Given the description of an element on the screen output the (x, y) to click on. 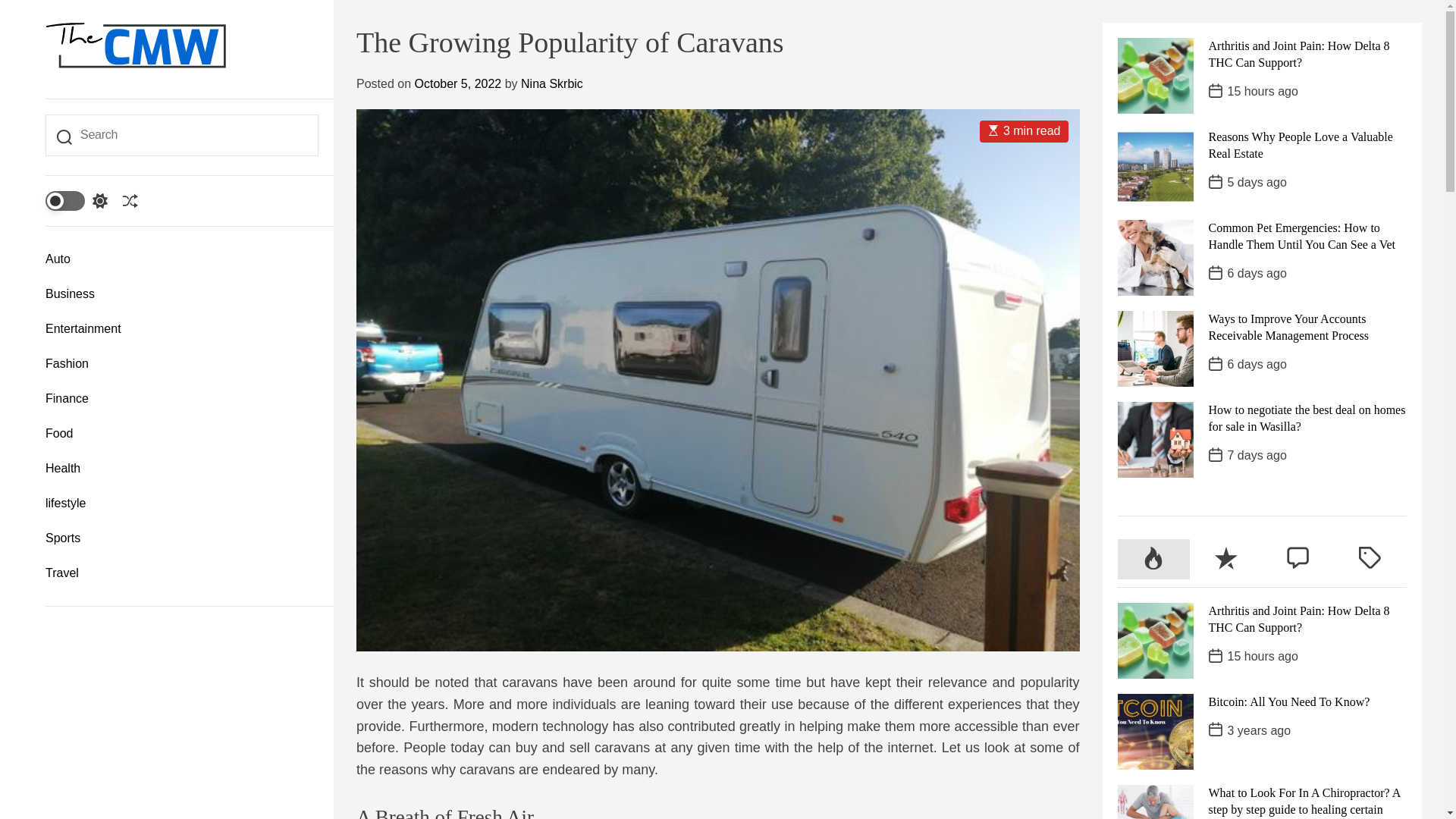
Health (181, 468)
Business (181, 294)
Auto (181, 258)
Entertainment (181, 329)
lifestyle (181, 503)
October 5, 2022 (456, 83)
Shuffle (130, 200)
Sports (181, 538)
Travel (181, 573)
Fashion (181, 363)
Nina Skrbic (552, 83)
Food (181, 433)
Switch color mode (76, 200)
Finance (181, 398)
Arthritis and Joint Pain: How Delta 8 THC Can Support? (1299, 53)
